Given the description of an element on the screen output the (x, y) to click on. 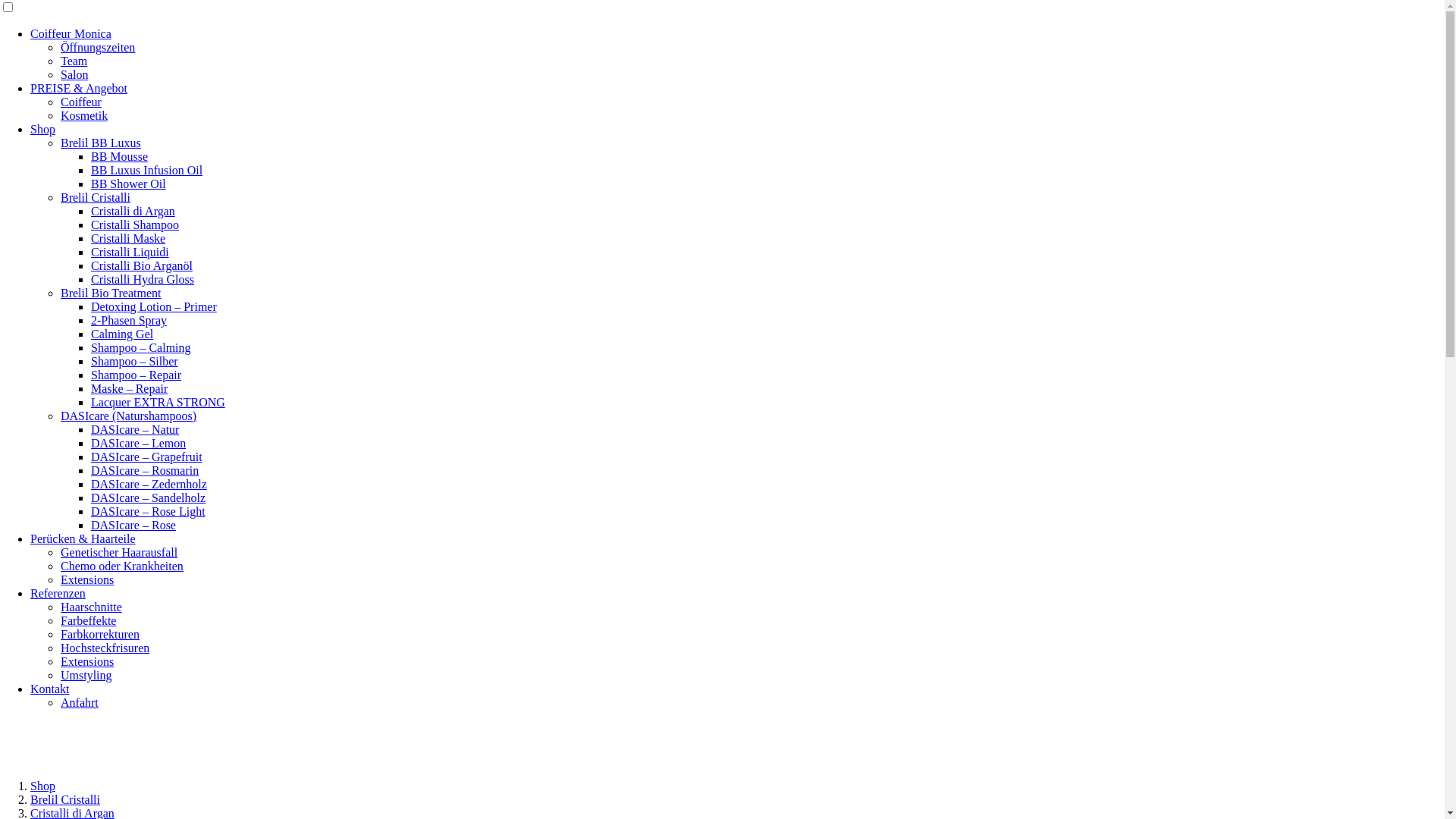
Cristalli di Argan Element type: text (133, 210)
Kosmetik Element type: text (83, 115)
Chemo oder Krankheiten Element type: text (121, 565)
BB Shower Oil Element type: text (128, 183)
Team Element type: text (73, 60)
Kontakt Element type: text (49, 688)
Cristalli Maske Element type: text (128, 238)
Hochsteckfrisuren Element type: text (104, 647)
Lacquer EXTRA STRONG Element type: text (158, 401)
Referenzen Element type: text (57, 592)
Extensions Element type: text (86, 661)
BB Mousse Element type: text (119, 156)
Brelil Cristalli Element type: text (95, 197)
Umstyling Element type: text (86, 674)
Cristalli Liquidi Element type: text (130, 251)
Cristalli Shampoo Element type: text (134, 224)
2-Phasen Spray Element type: text (128, 319)
Brelil BB Luxus Element type: text (100, 142)
Haarschnitte Element type: text (91, 606)
Salon Element type: text (73, 74)
Extensions Element type: text (86, 579)
Shop Element type: text (42, 128)
Calming Gel Element type: text (122, 333)
DASIcare (Naturshampoos) Element type: text (128, 415)
Farbkorrekturen Element type: text (99, 633)
Genetischer Haarausfall Element type: text (118, 552)
BB Luxus Infusion Oil Element type: text (146, 169)
Shop Element type: text (42, 785)
Coiffeur Monica Element type: text (70, 33)
Cristalli Hydra Gloss Element type: text (142, 279)
Coiffeur Element type: text (80, 101)
Brelil Bio Treatment Element type: text (110, 292)
Farbeffekte Element type: text (88, 620)
Brelil Cristalli Element type: text (65, 799)
Anfahrt Element type: text (79, 702)
PREISE & Angebot Element type: text (78, 87)
